Given the description of an element on the screen output the (x, y) to click on. 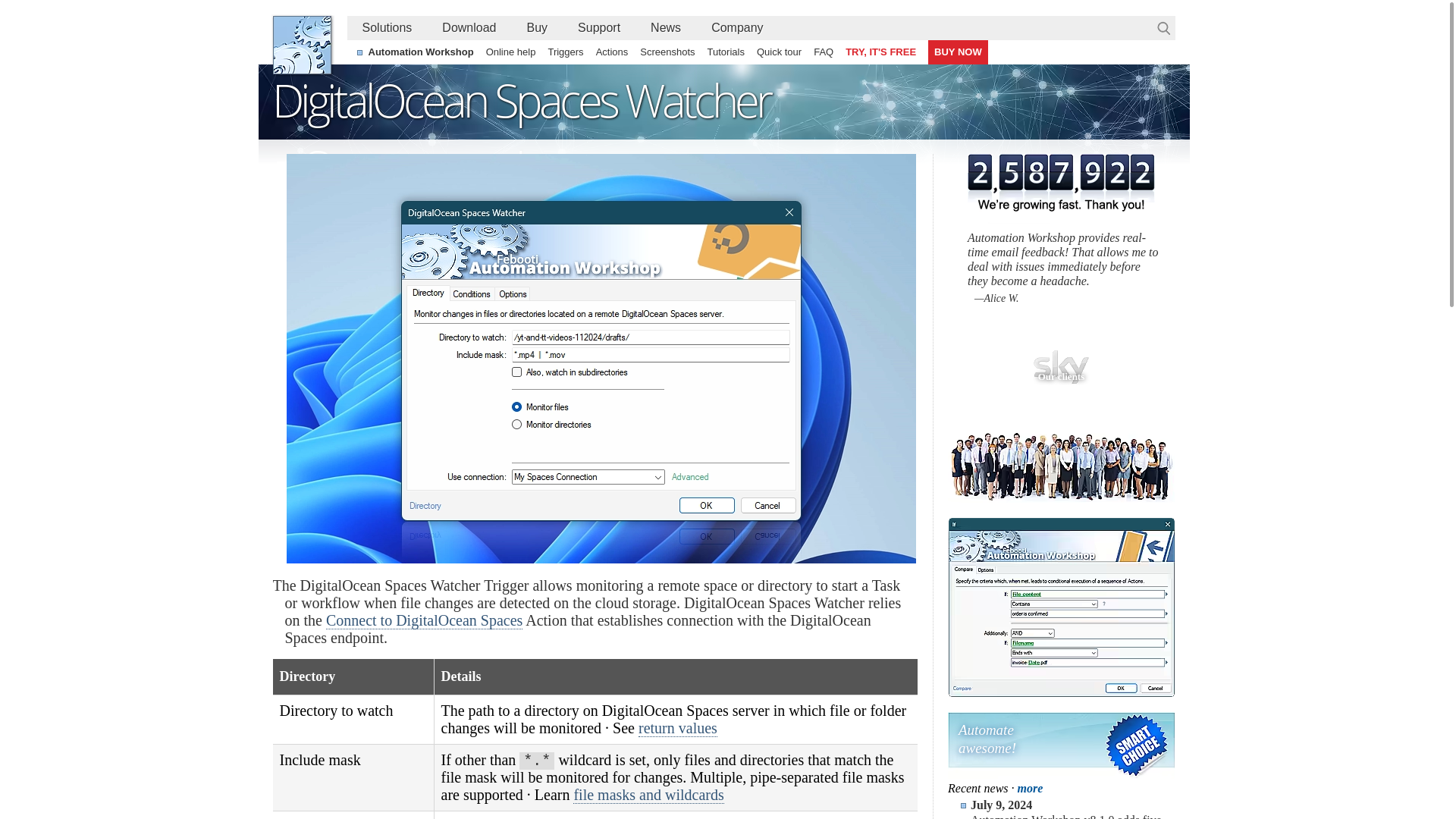
Online help (510, 52)
Actions (611, 52)
Support (598, 27)
TRY, IT'S FREE (880, 52)
Company (736, 27)
Triggers (565, 52)
Febooti, Ltd. (301, 44)
Automation Workshop (421, 52)
Connect to DigitalOcean Spaces (424, 620)
Screenshots (666, 52)
News (664, 27)
BUY NOW (958, 52)
Search (1163, 28)
Download (468, 27)
Solutions (387, 27)
